Given the description of an element on the screen output the (x, y) to click on. 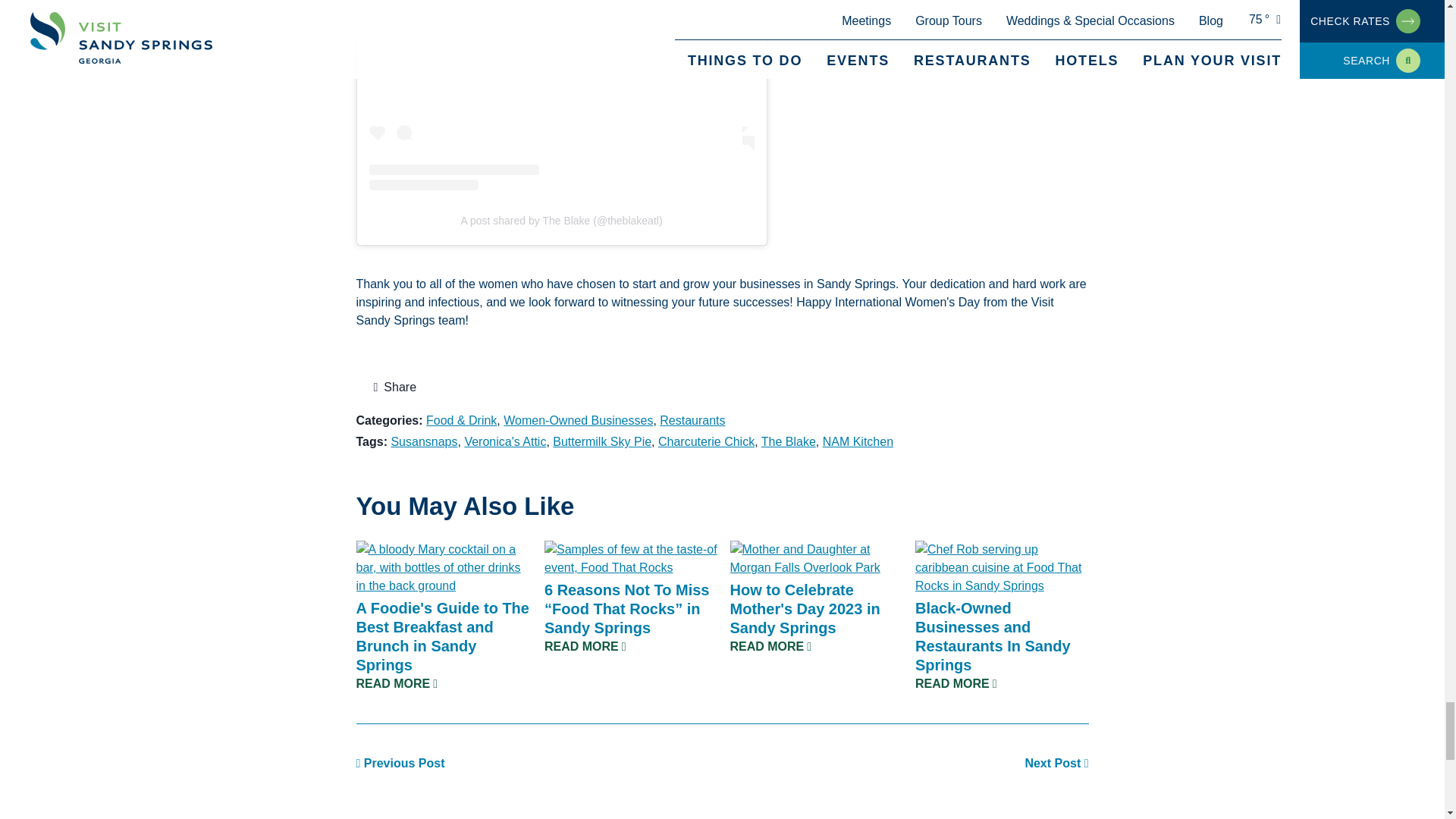
Where to Watch Sports in Sandy Springs (400, 763)
St. Patrick's Day Festivities in Sandy Springs (1056, 763)
